Given the description of an element on the screen output the (x, y) to click on. 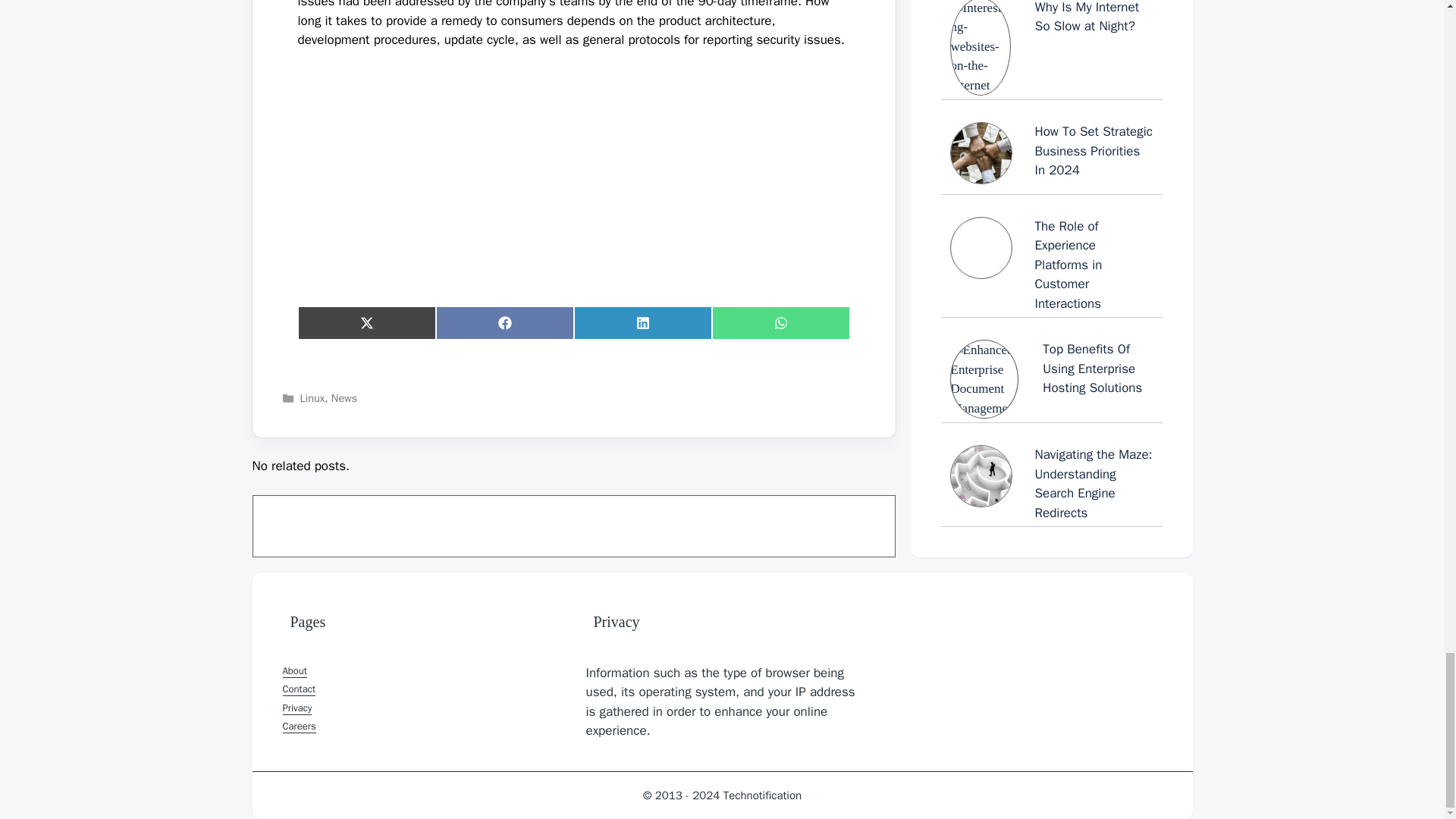
SHARE ON WHATSAPP (779, 322)
SHARE ON FACEBOOK (504, 322)
SHARE ON LINKEDIN (642, 322)
News (343, 397)
Linux (311, 397)
